Given the description of an element on the screen output the (x, y) to click on. 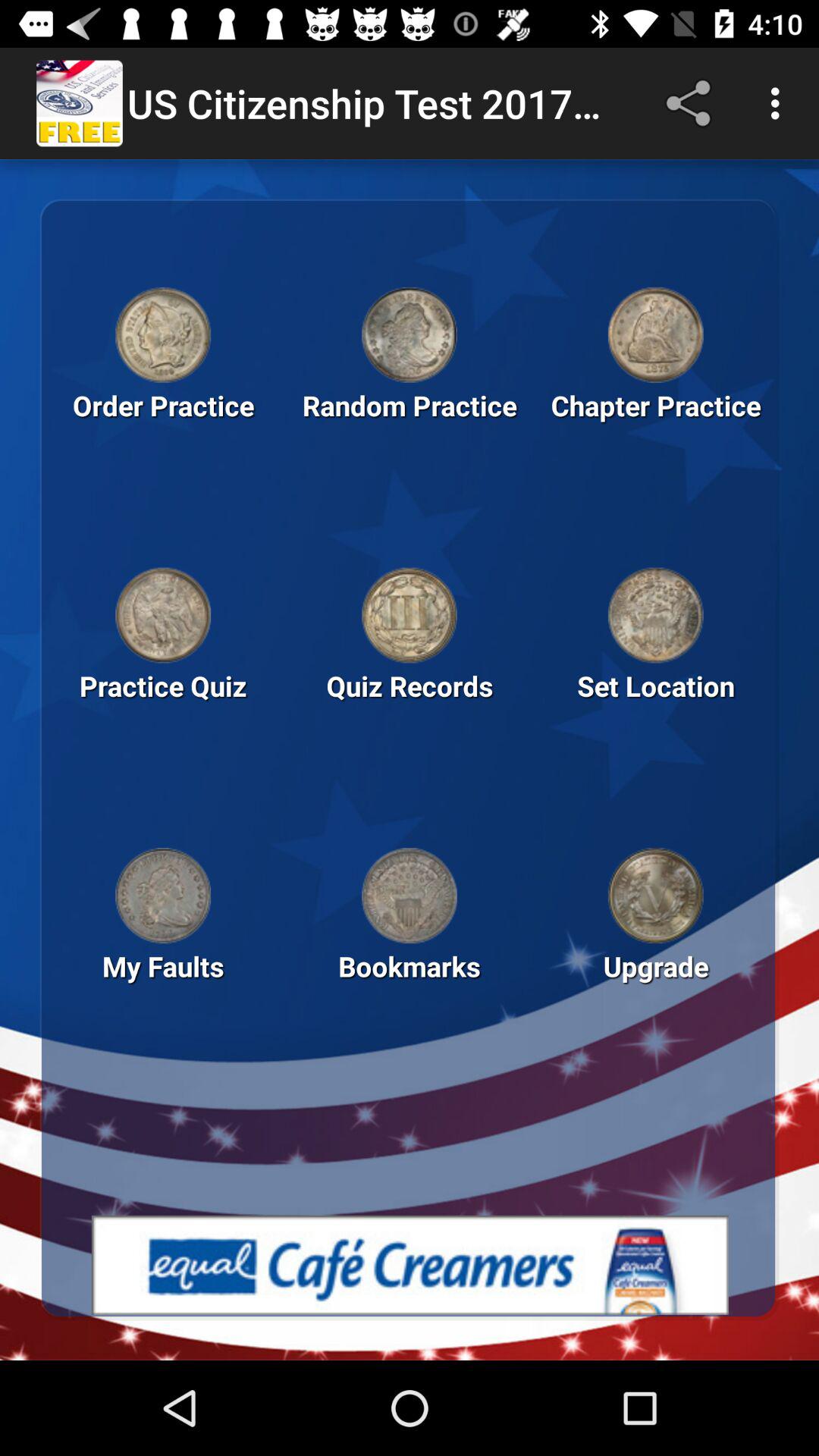
open my faults list (163, 895)
